Given the description of an element on the screen output the (x, y) to click on. 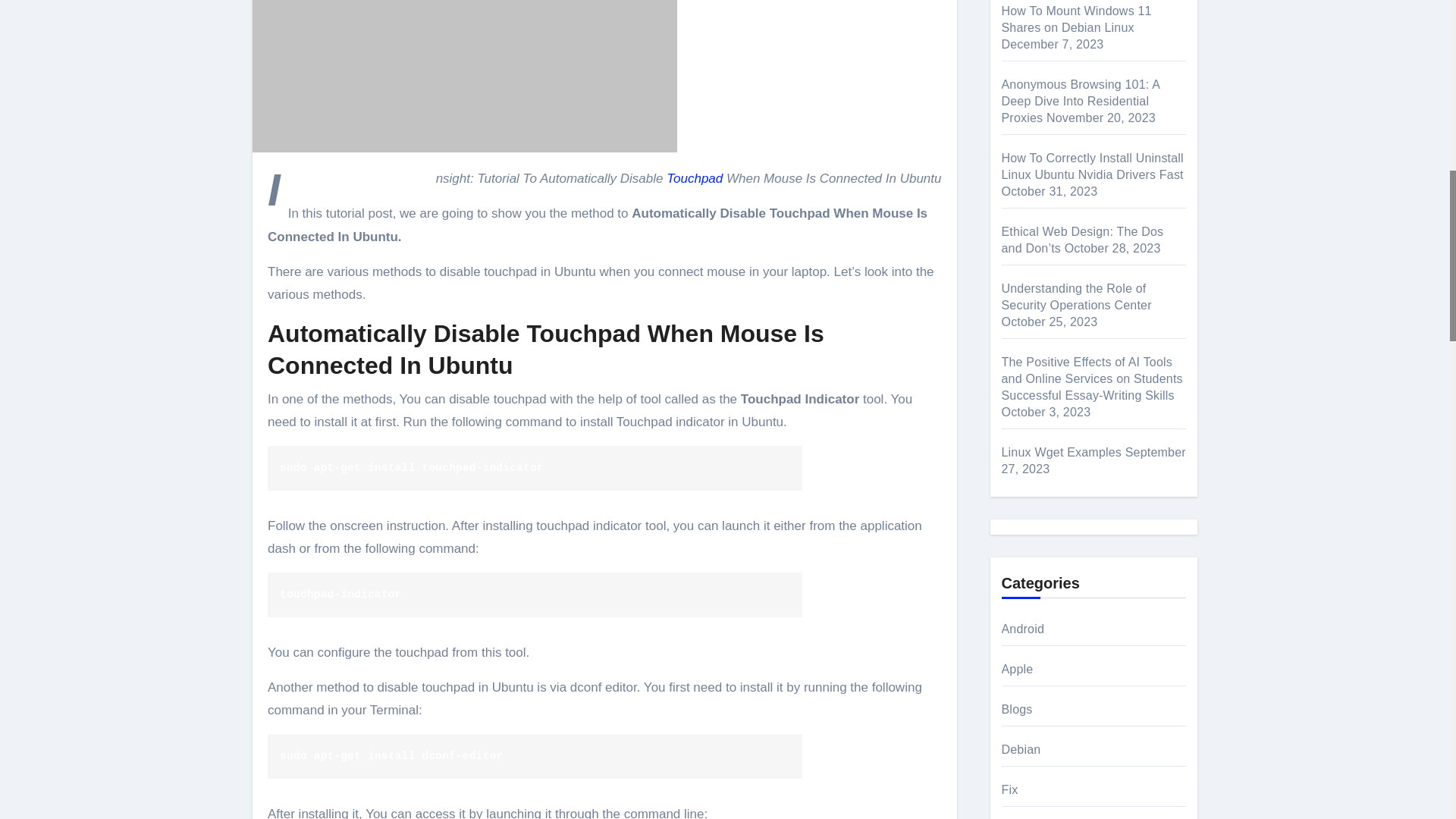
Touchpad (694, 178)
